Given the description of an element on the screen output the (x, y) to click on. 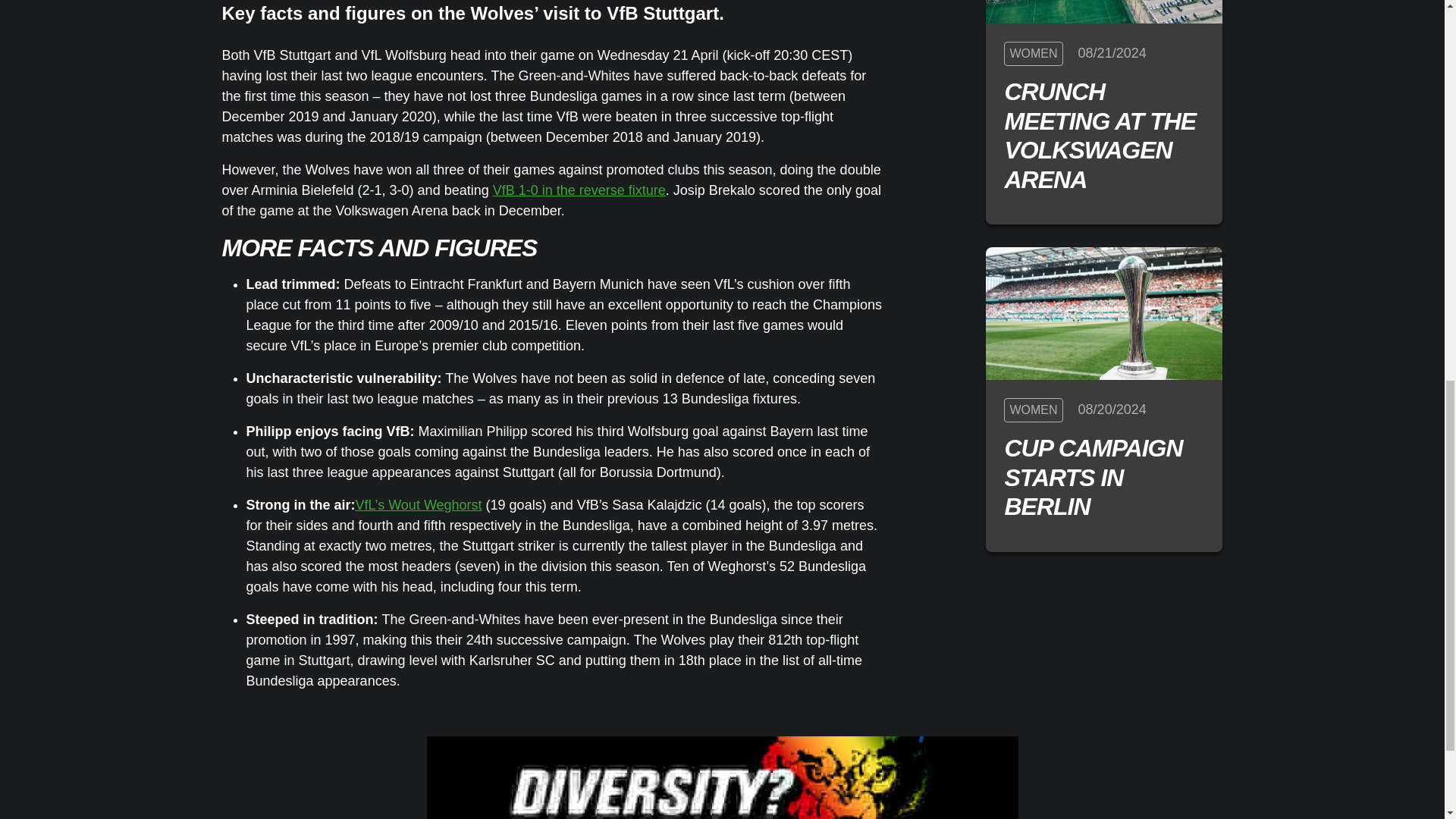
Cup campaign starts in Berlin  (1104, 477)
Crunch meeting at the Volkswagen Arena (1104, 11)
Cup campaign starts in Berlin  (1104, 313)
Crunch meeting at the Volkswagen Arena (1104, 135)
